Given the description of an element on the screen output the (x, y) to click on. 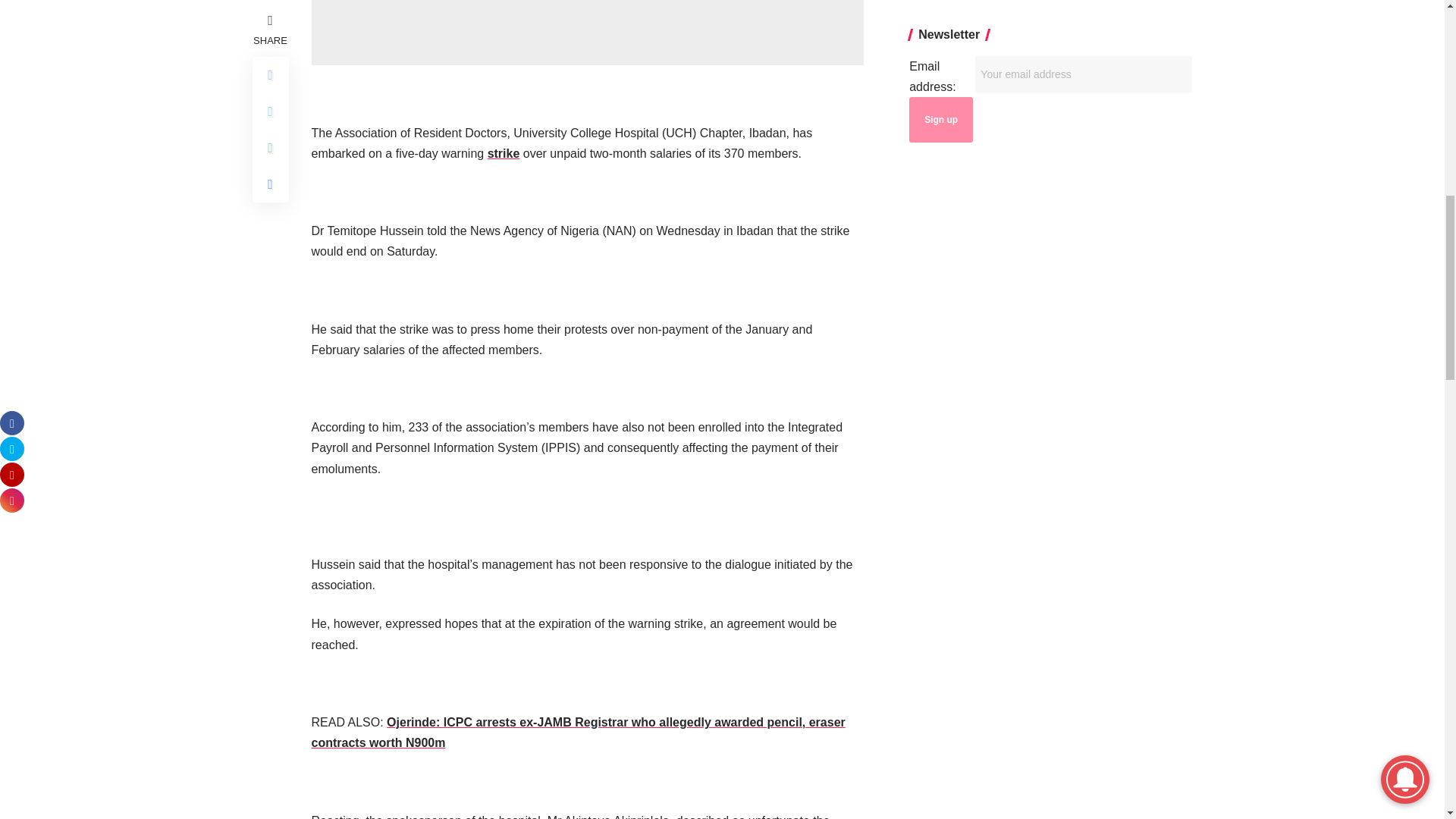
Advertisement (587, 32)
Sign up (940, 119)
